Given the description of an element on the screen output the (x, y) to click on. 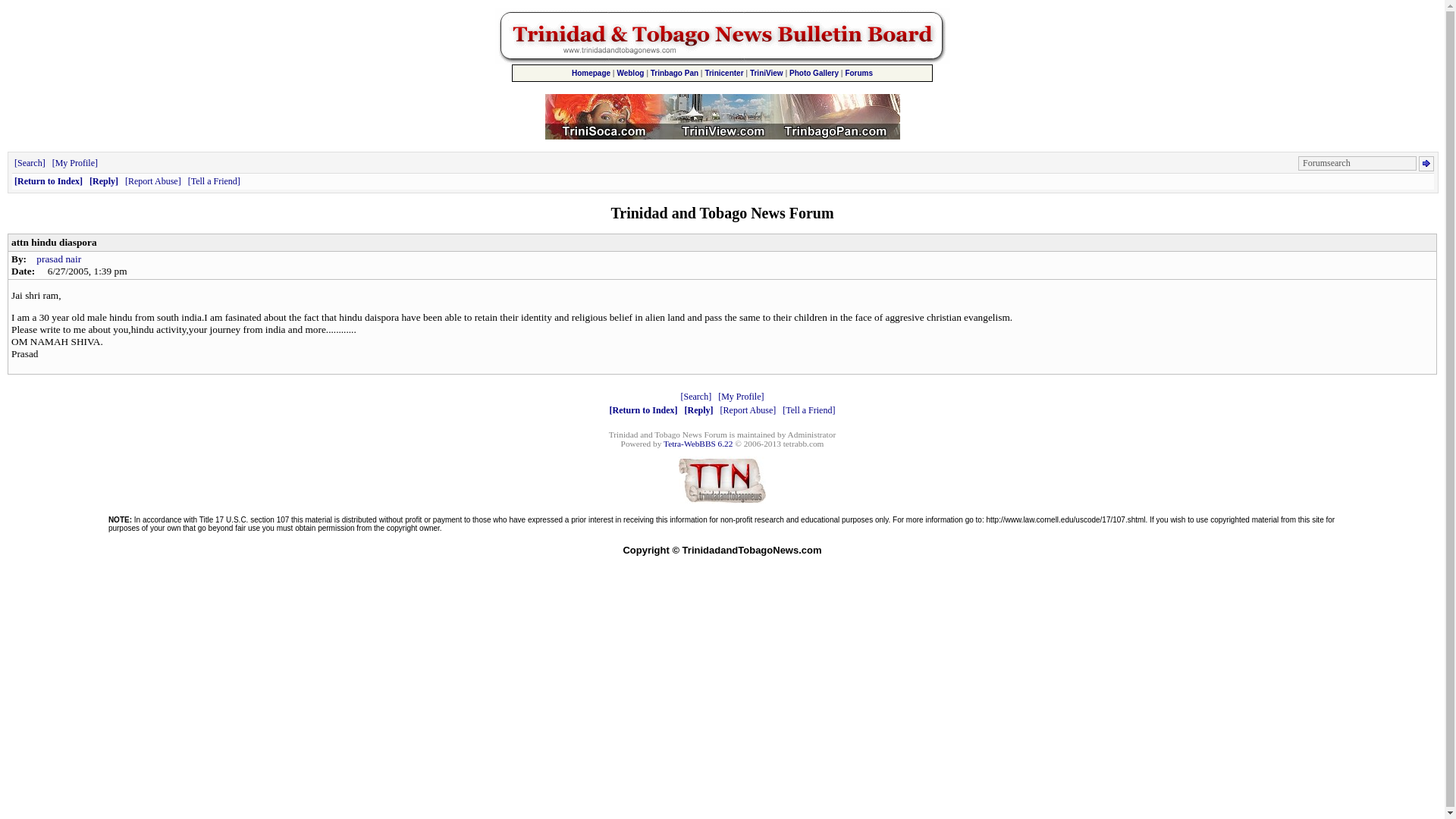
Tell a Friend (213, 181)
Reply (102, 181)
Search (696, 396)
Trinbago Pan (674, 72)
Report Abuse (152, 181)
My Profile (739, 396)
Tell a Friend (808, 409)
Return to Index (644, 409)
 Forumsearch (1357, 163)
TriniView (766, 72)
Report Abuse (748, 409)
My Profile (74, 163)
Tetra-WebBBS 6.22 (697, 442)
Search (29, 163)
